Given the description of an element on the screen output the (x, y) to click on. 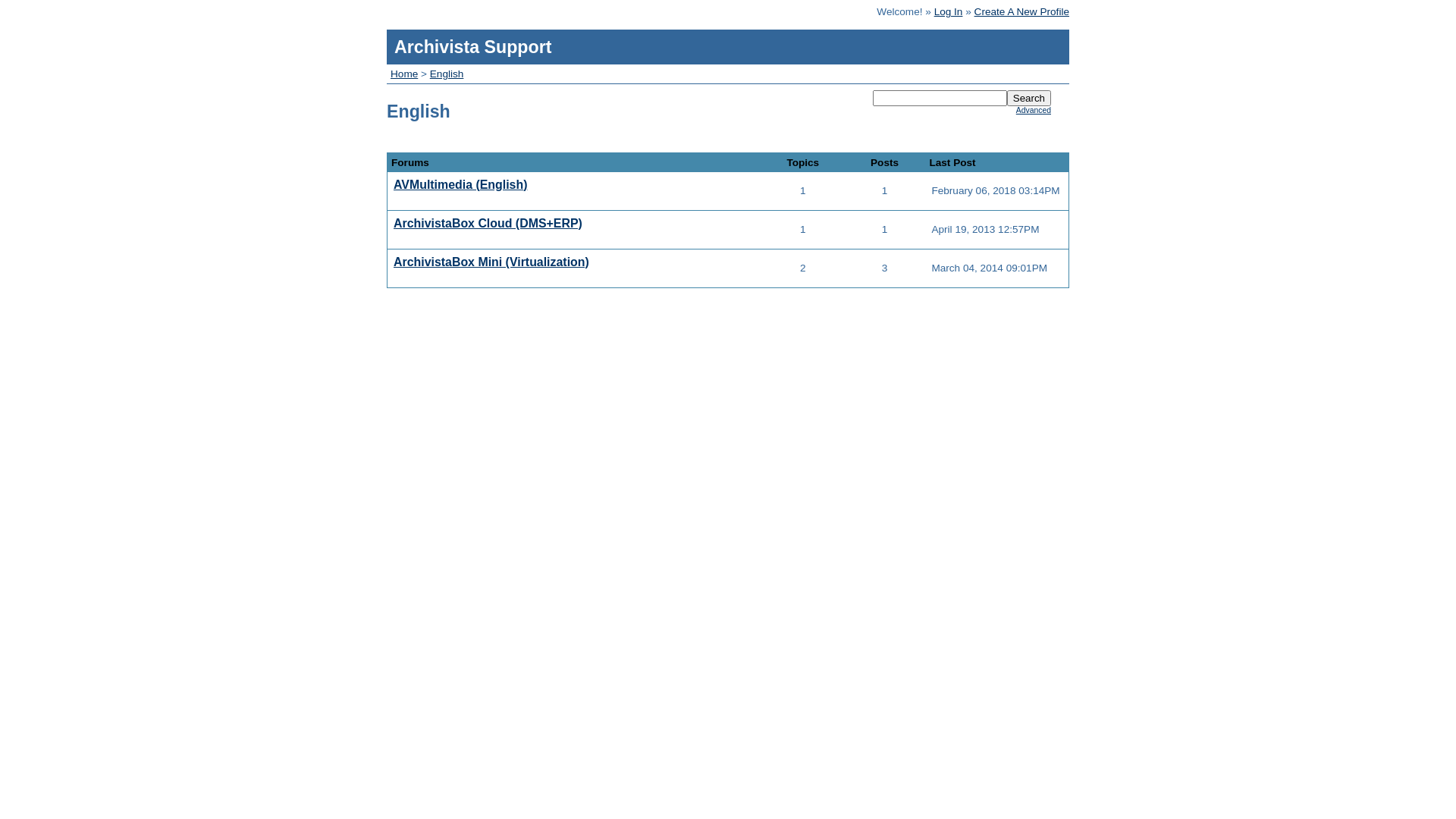
AVMultimedia (English) Element type: text (460, 184)
Home Element type: text (403, 73)
Search Element type: text (1029, 98)
Log In Element type: text (948, 10)
English Element type: text (446, 73)
Create A New Profile Element type: text (1021, 10)
Advanced Element type: text (1033, 110)
ArchivistaBox Cloud (DMS+ERP) Element type: text (487, 222)
ArchivistaBox Mini (Virtualization) Element type: text (491, 261)
